Given the description of an element on the screen output the (x, y) to click on. 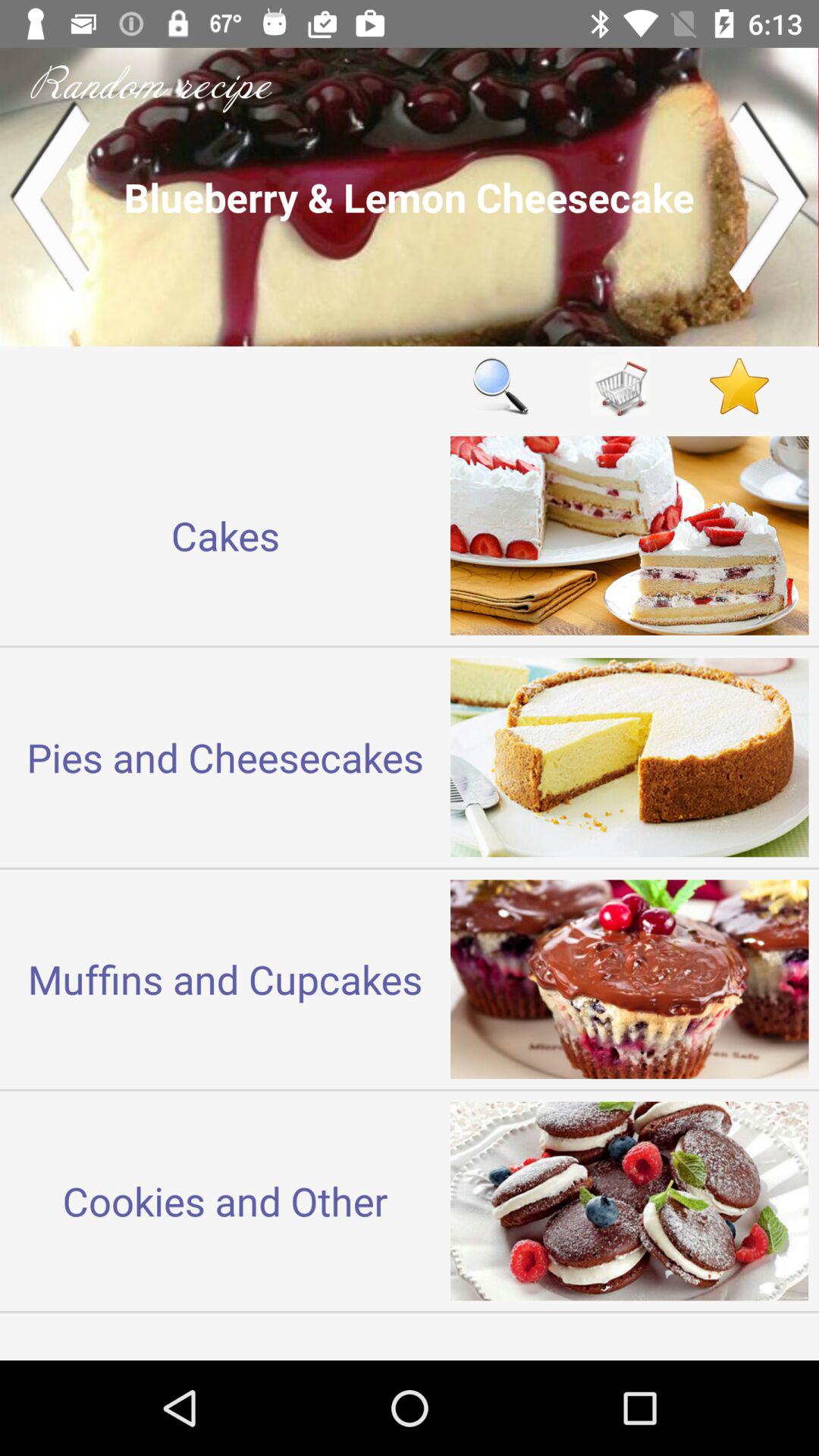
open the item below the cakes item (225, 756)
